Given the description of an element on the screen output the (x, y) to click on. 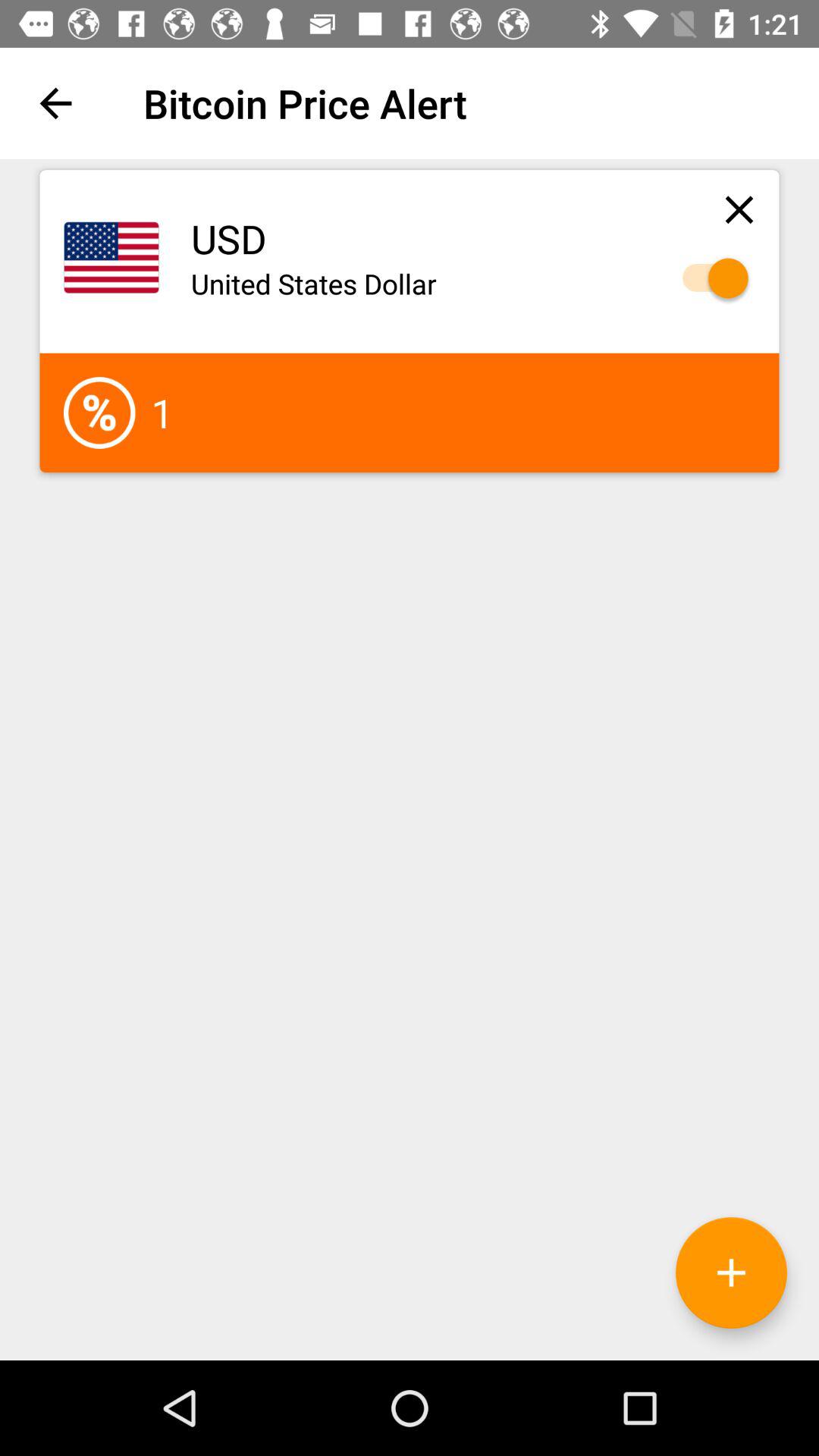
close window (739, 209)
